Given the description of an element on the screen output the (x, y) to click on. 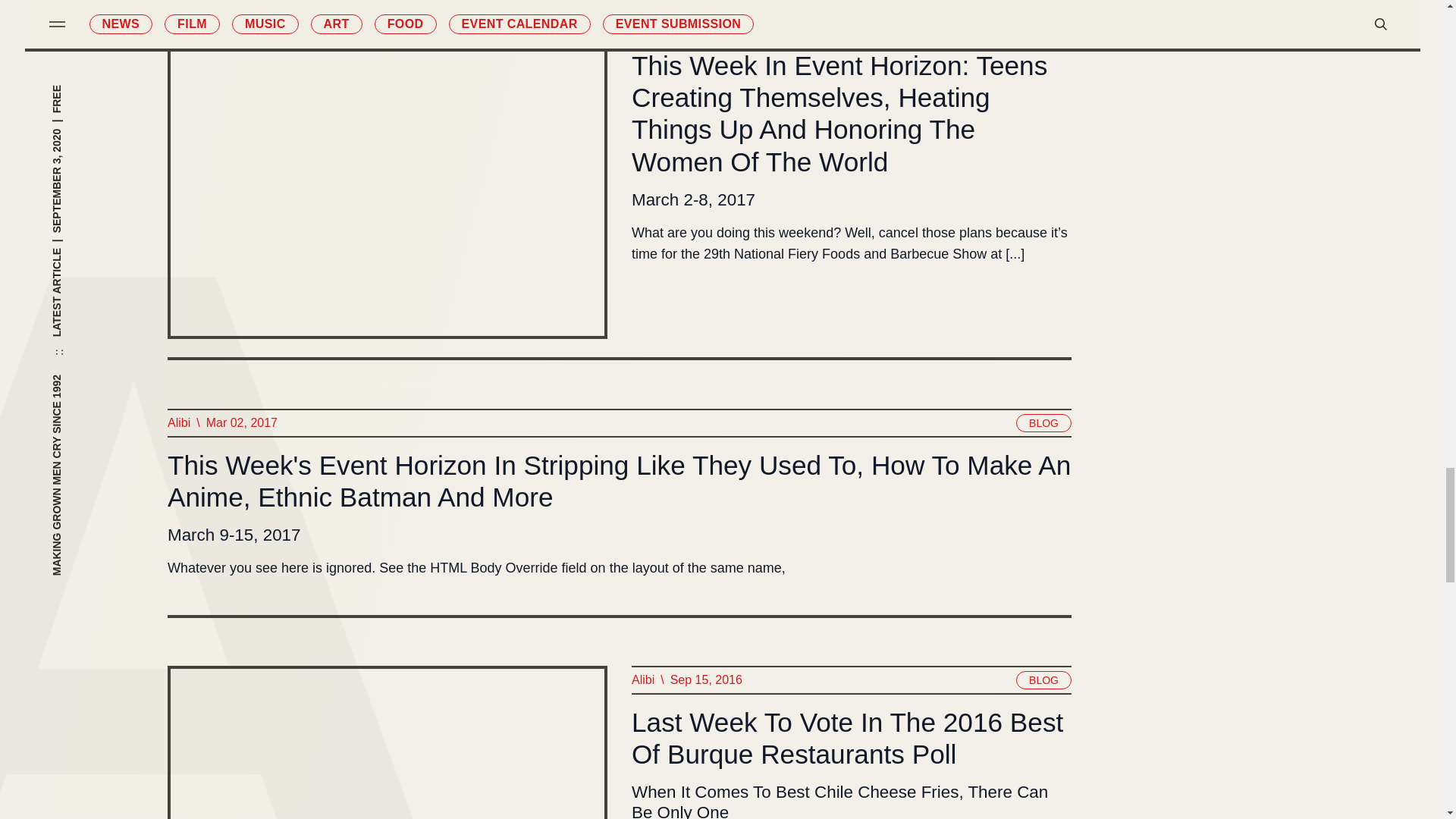
Alibi (178, 423)
Alibi (641, 23)
BLOG (1043, 23)
BLOG (1043, 423)
